Given the description of an element on the screen output the (x, y) to click on. 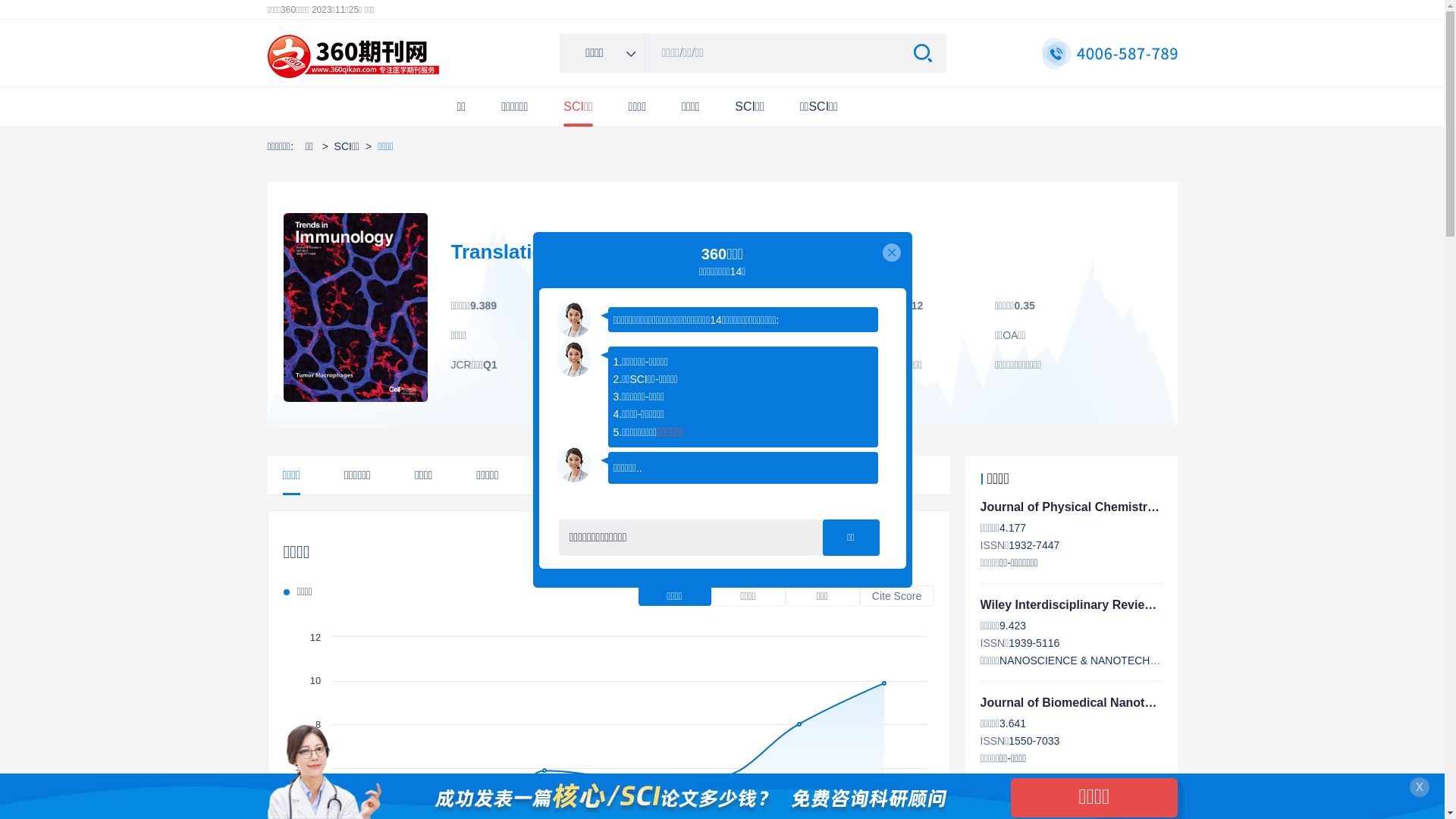
Journal of Physical Chemistry C... Element type: text (1077, 506)
Journal of Biomedical Nanotechnology... Element type: text (1096, 702)
